Given the description of an element on the screen output the (x, y) to click on. 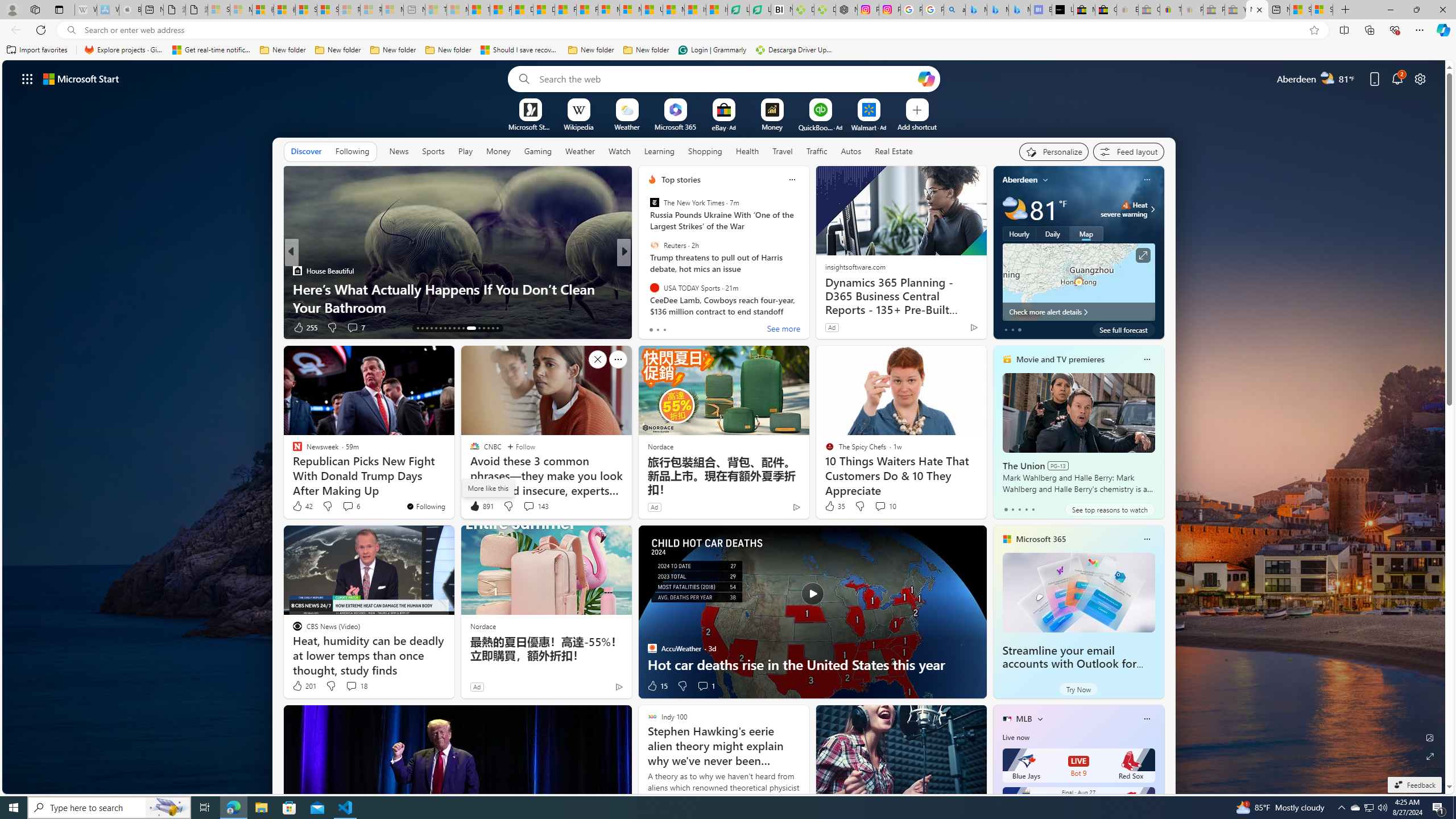
AutomationID: tab-20 (449, 328)
Food and Drink - MSN (500, 9)
AutomationID: tab-22 (458, 328)
View comments 143 Comment (535, 505)
View comments 14 Comment (6, 327)
Threats and offensive language policy | eBay (1170, 9)
